Given the description of an element on the screen output the (x, y) to click on. 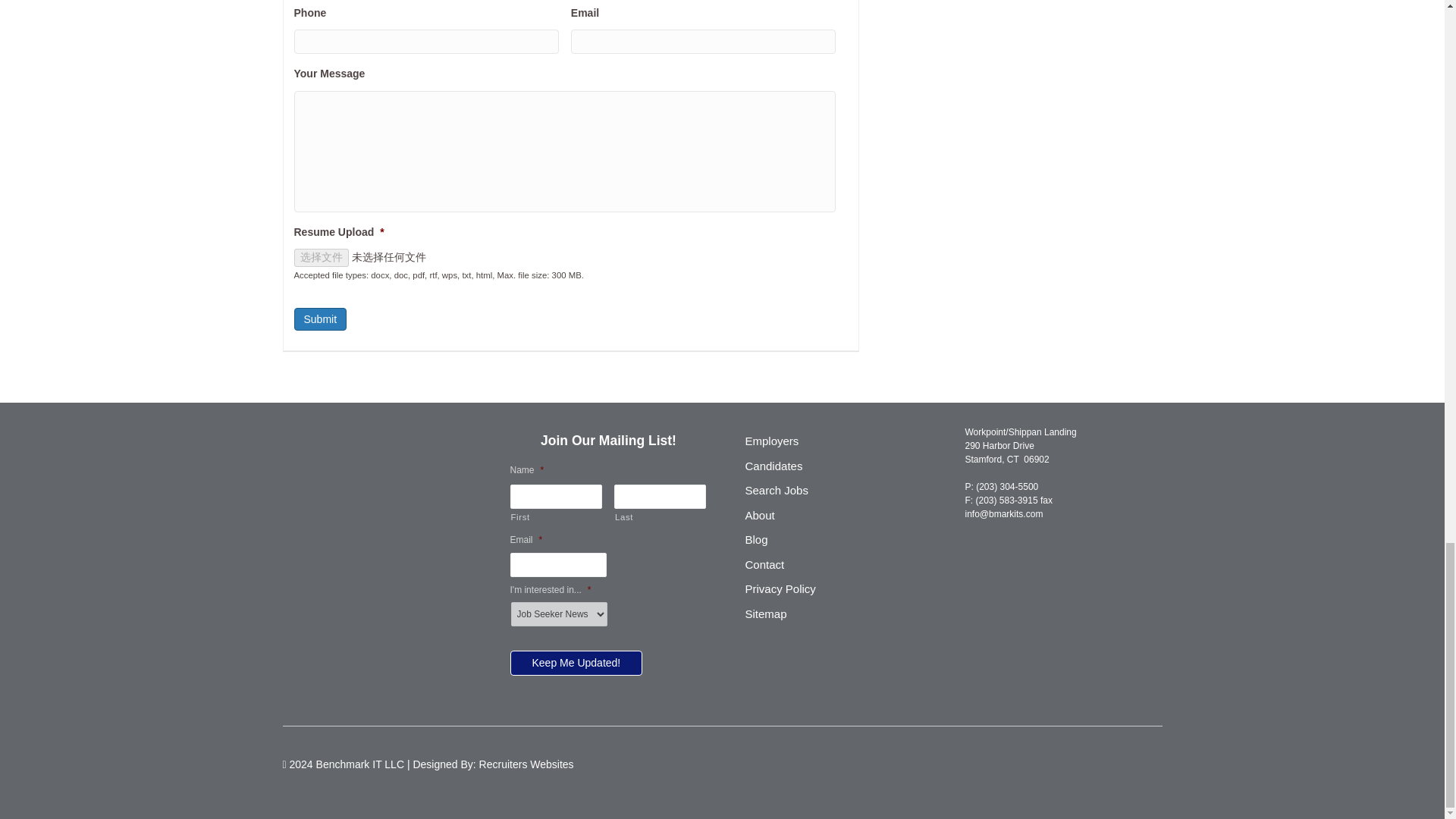
sm-greatrecruiter-white-greenbg-rounded (365, 488)
BIT-logo-white-1000x243-06112020 (348, 449)
Instagram-50x50-green-1 (347, 488)
Submit (320, 319)
LinkedIn-50x50-green-1 (327, 488)
Keep Me Updated! (575, 662)
Facebook-50x50-green-1 (289, 488)
Twitter-50x50-green-1 (309, 488)
